Given the description of an element on the screen output the (x, y) to click on. 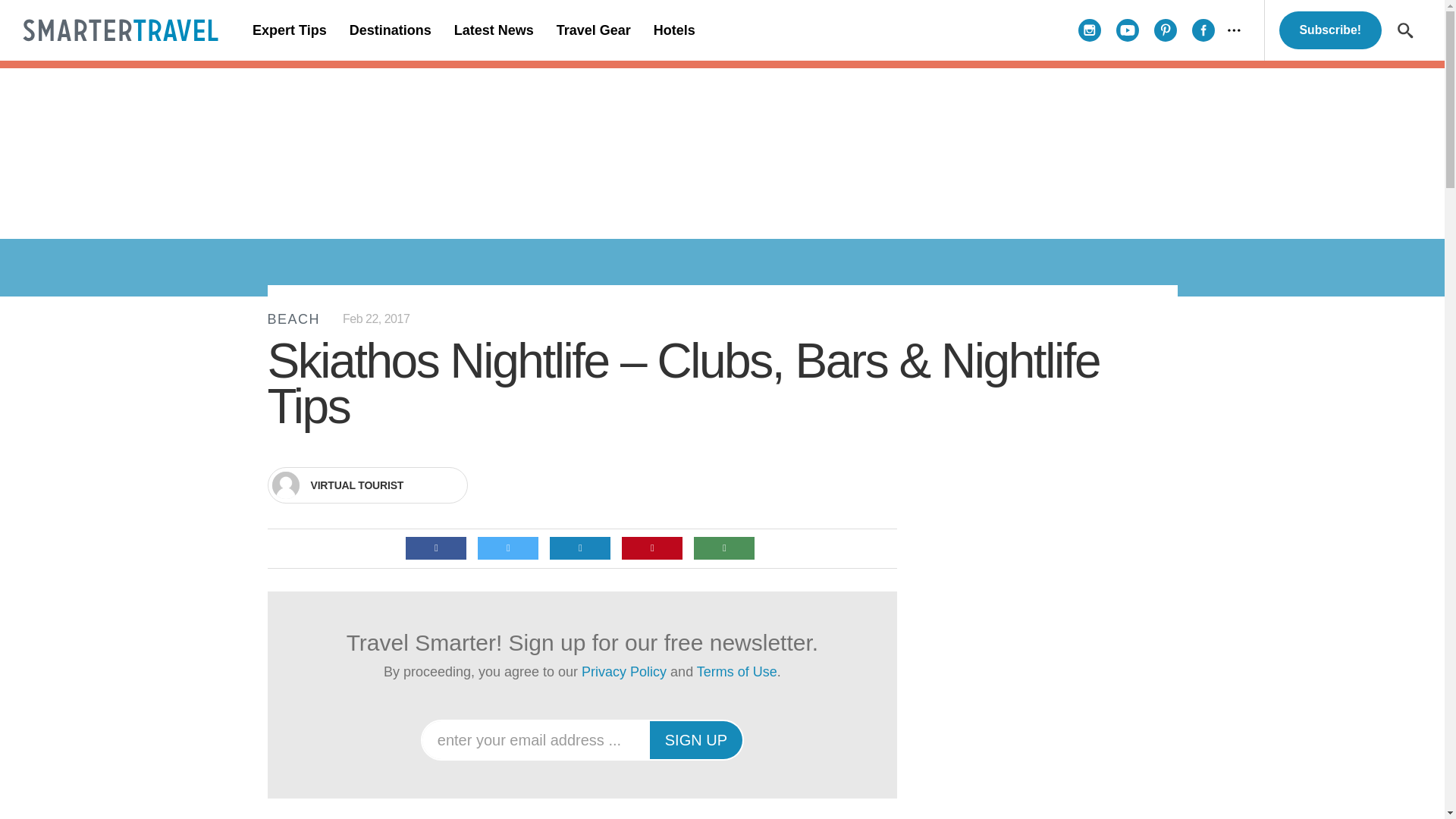
Subscribe! (1330, 30)
Expert Tips (289, 30)
Latest News (493, 30)
Destinations (389, 30)
Hotels (674, 30)
Travel Gear (593, 30)
